Given the description of an element on the screen output the (x, y) to click on. 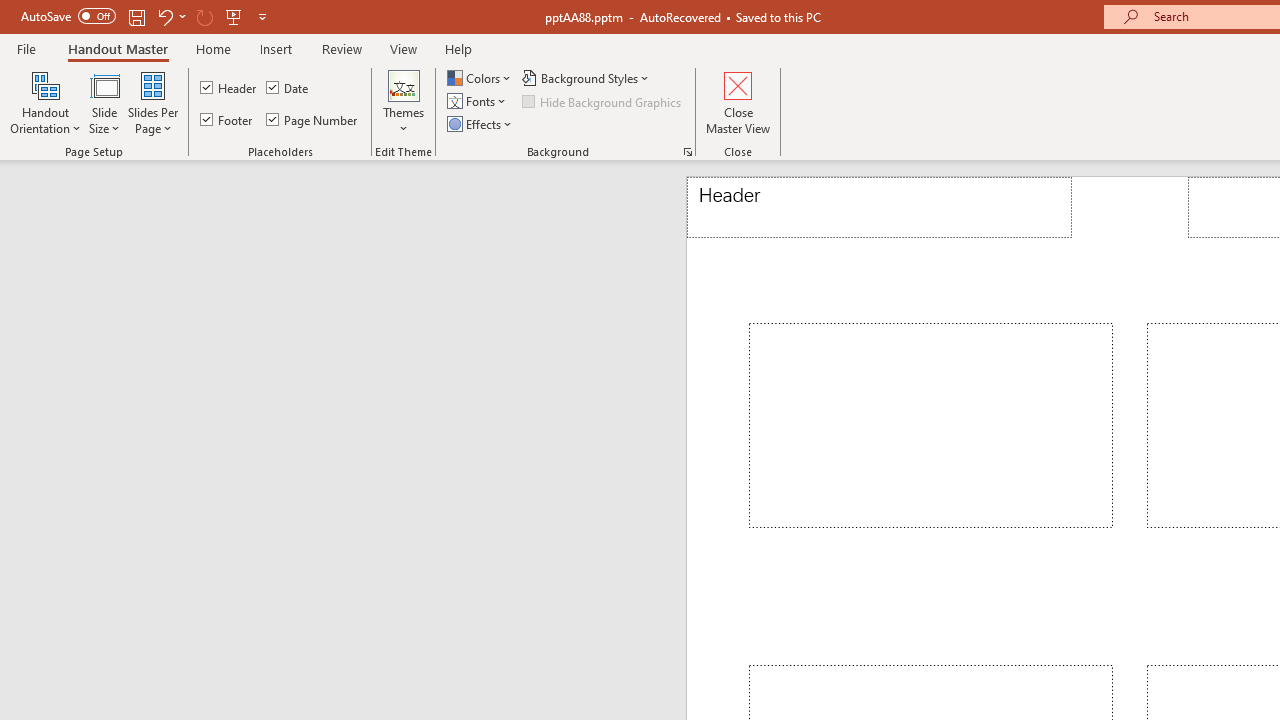
Fonts (478, 101)
Background Styles (586, 78)
Date (288, 87)
Effects (481, 124)
Themes (404, 102)
Slide Size (104, 102)
Format Background... (687, 151)
Handout Orientation (45, 102)
Footer (227, 119)
Slides Per Page (152, 102)
